Given the description of an element on the screen output the (x, y) to click on. 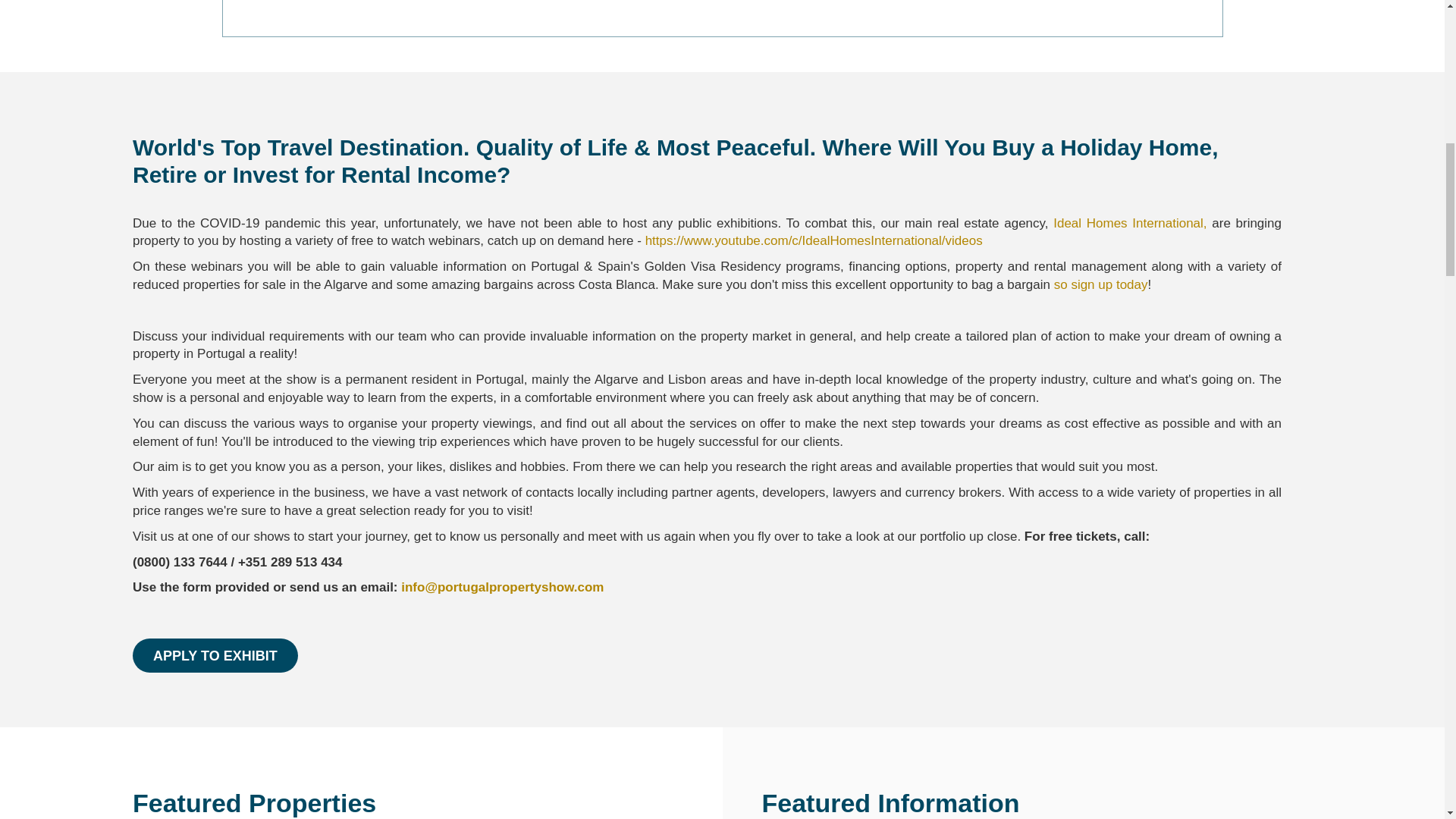
APPLY TO EXHIBIT (215, 655)
so sign up today (1101, 284)
Ideal Homes International, (1129, 223)
